Given the description of an element on the screen output the (x, y) to click on. 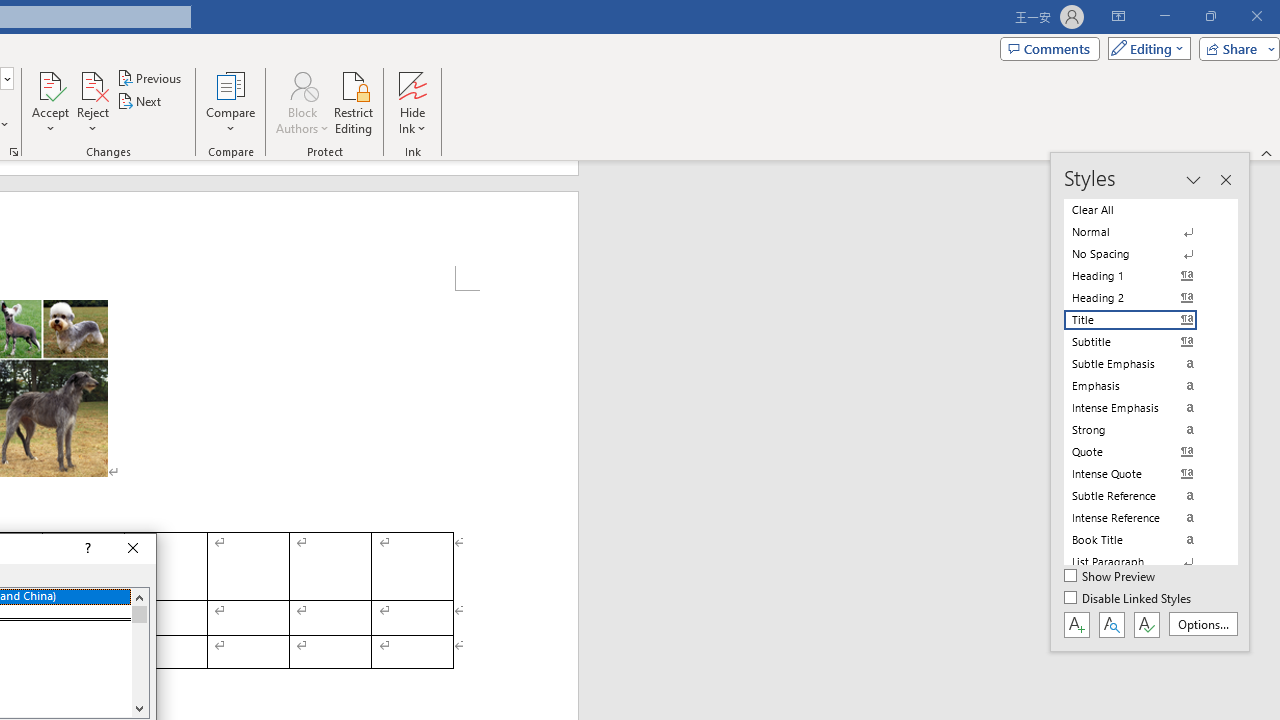
Class: NetUIButton (1146, 624)
Show Preview (1110, 577)
Reject (92, 102)
Normal (1142, 232)
Compare (230, 102)
Previous (150, 78)
Next (140, 101)
